Given the description of an element on the screen output the (x, y) to click on. 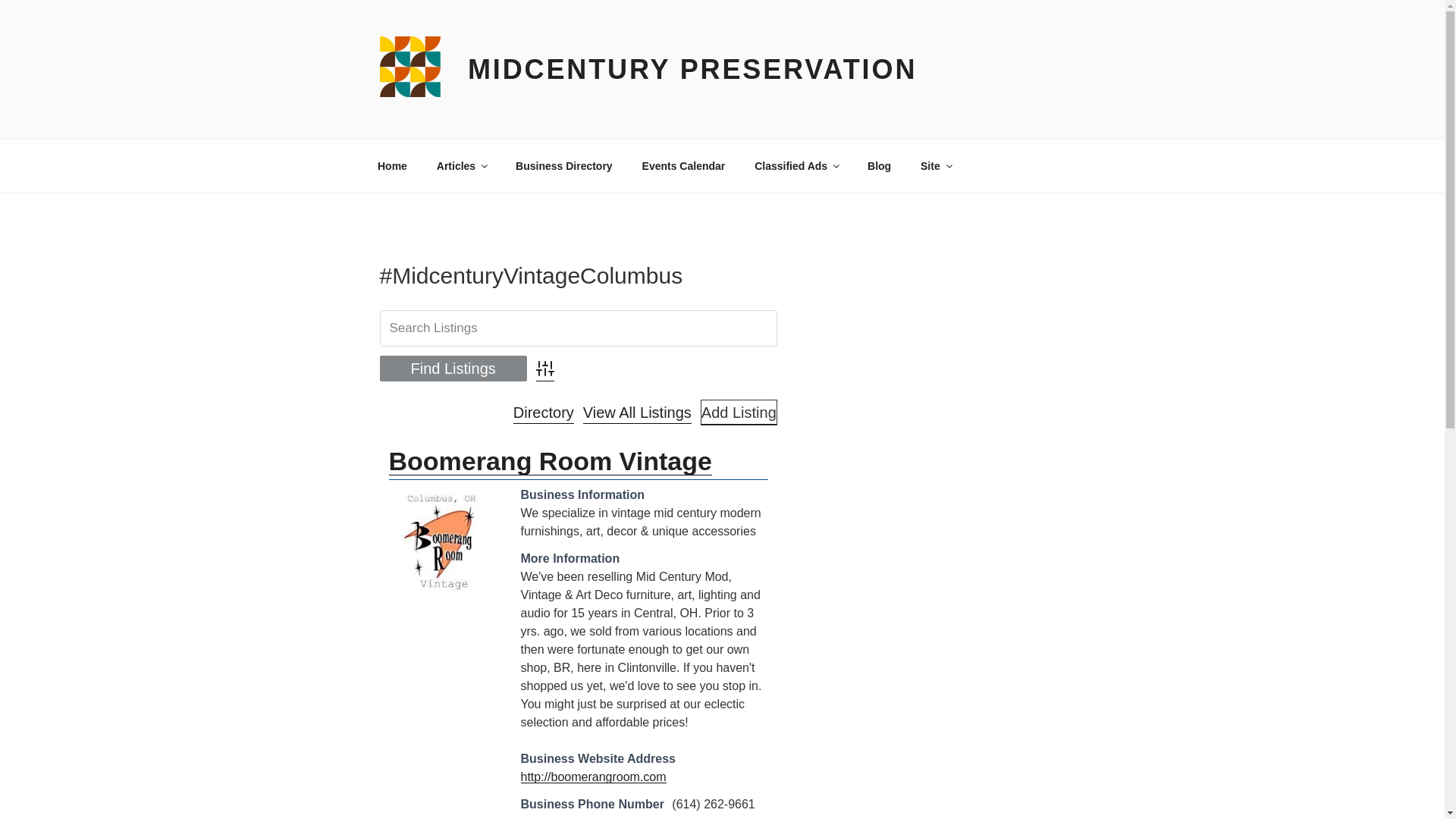
Boomerang Room Vintage (445, 542)
Articles (461, 165)
Find Listings (451, 367)
Site (935, 165)
MIDCENTURY PRESERVATION (692, 69)
Classified Ads (796, 165)
Events Calendar (683, 165)
Blog (879, 165)
Business Directory (564, 165)
Home (392, 165)
Advanced Search (544, 367)
Quick search keywords (577, 327)
